Given the description of an element on the screen output the (x, y) to click on. 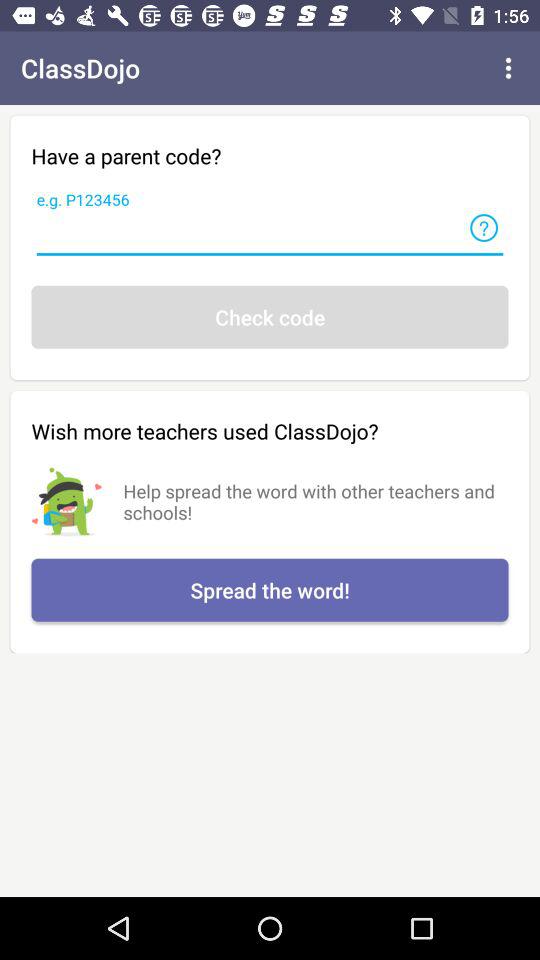
menu (508, 67)
